Given the description of an element on the screen output the (x, y) to click on. 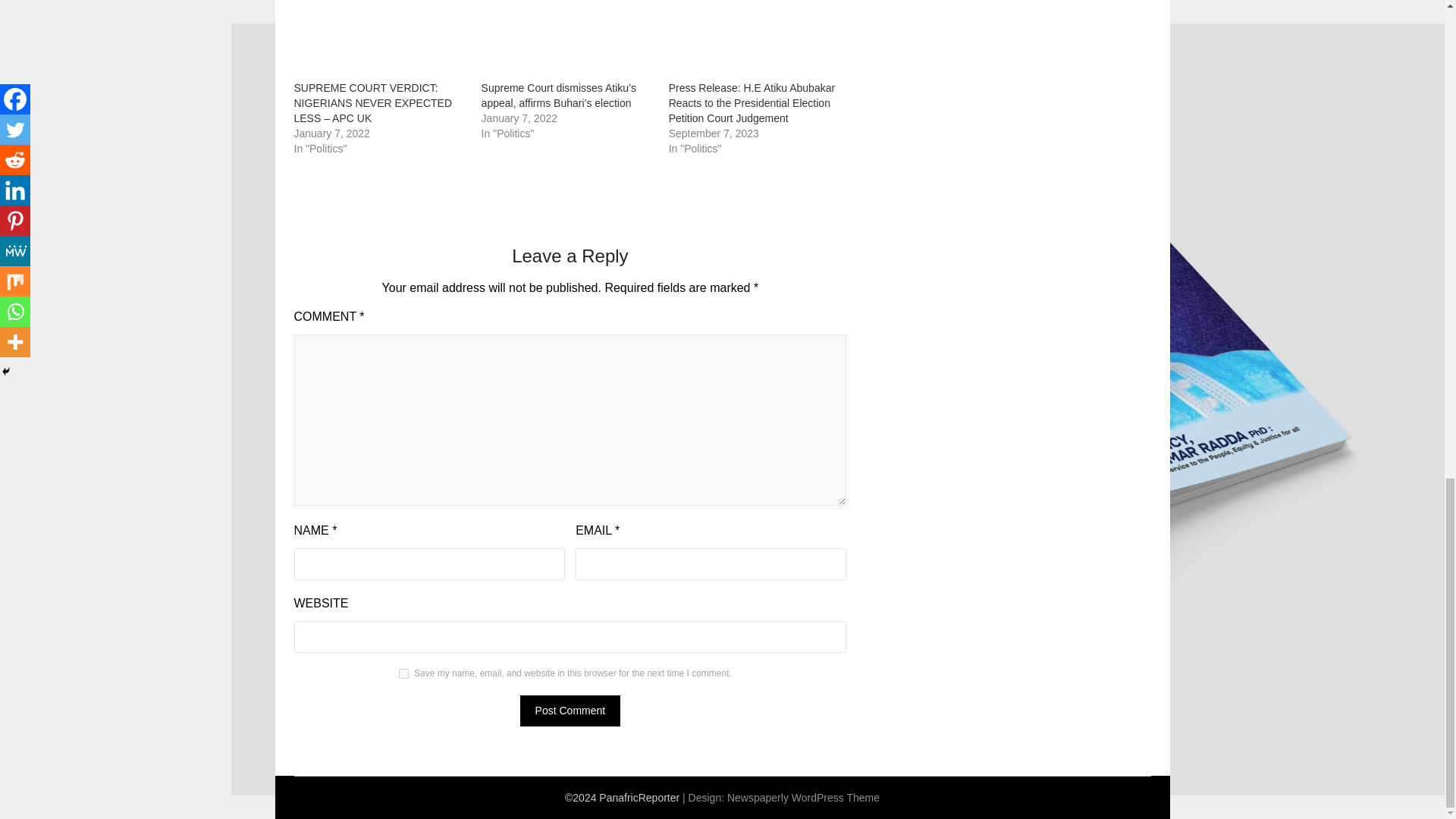
Post Comment (570, 710)
Post Comment (570, 710)
yes (403, 673)
